Given the description of an element on the screen output the (x, y) to click on. 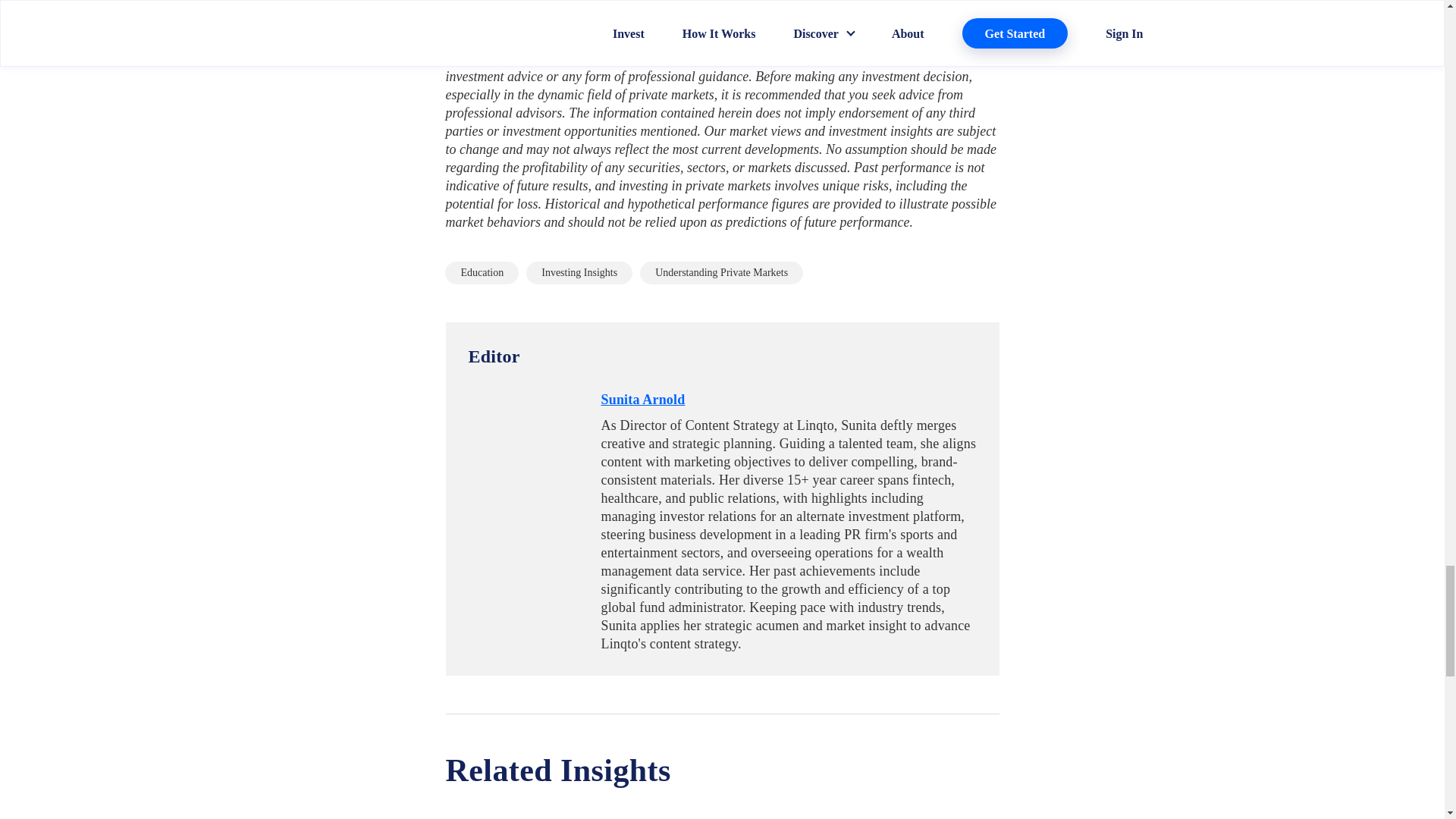
Education (481, 272)
